Given the description of an element on the screen output the (x, y) to click on. 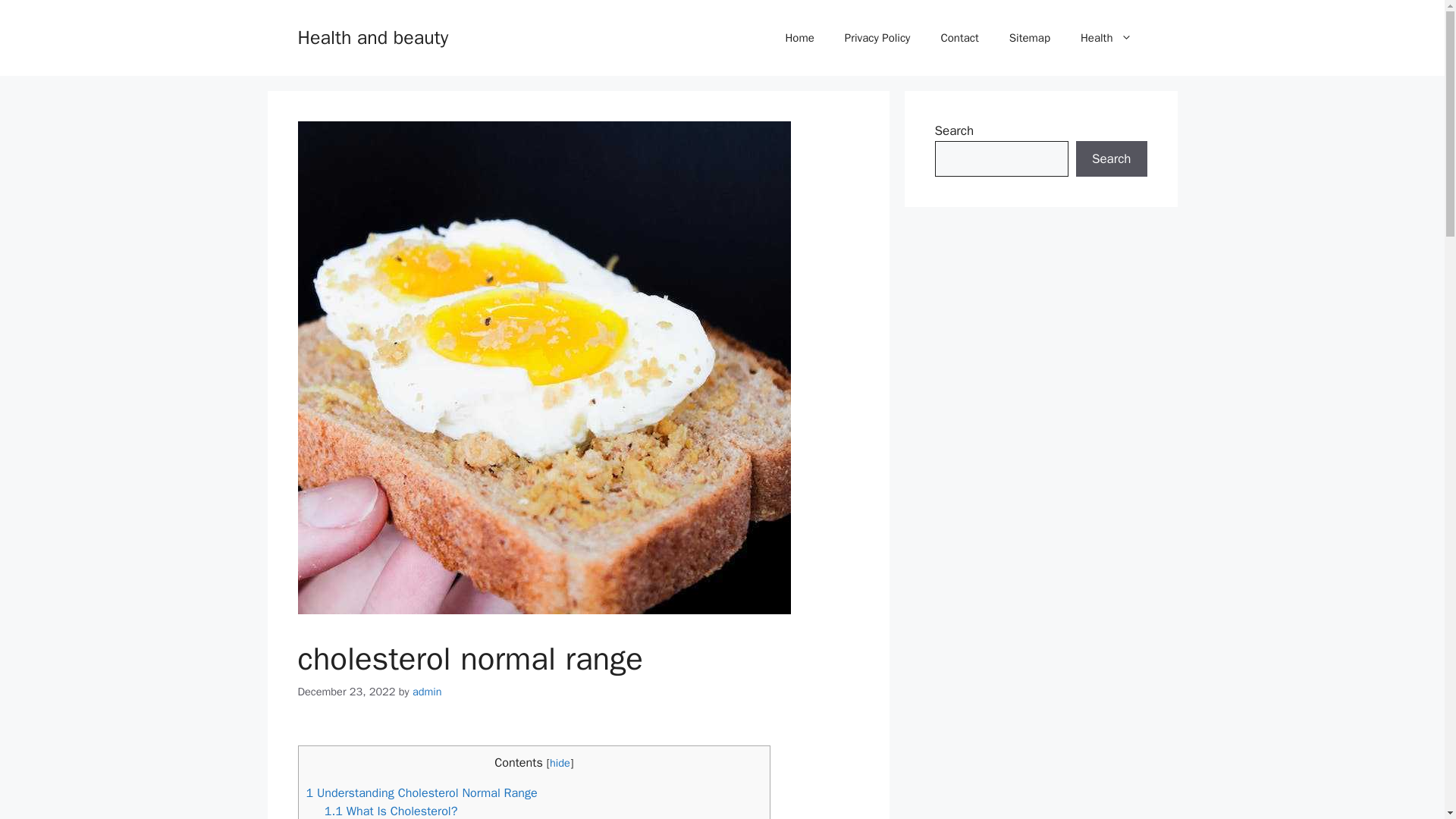
admin (427, 691)
Contact (958, 37)
1 Understanding Cholesterol Normal Range (421, 792)
Home (799, 37)
hide (560, 762)
View all posts by admin (427, 691)
Search (1111, 158)
1.1 What Is Cholesterol? (391, 811)
Health (1106, 37)
Sitemap (1029, 37)
Privacy Policy (877, 37)
Health and beauty (372, 37)
